Given the description of an element on the screen output the (x, y) to click on. 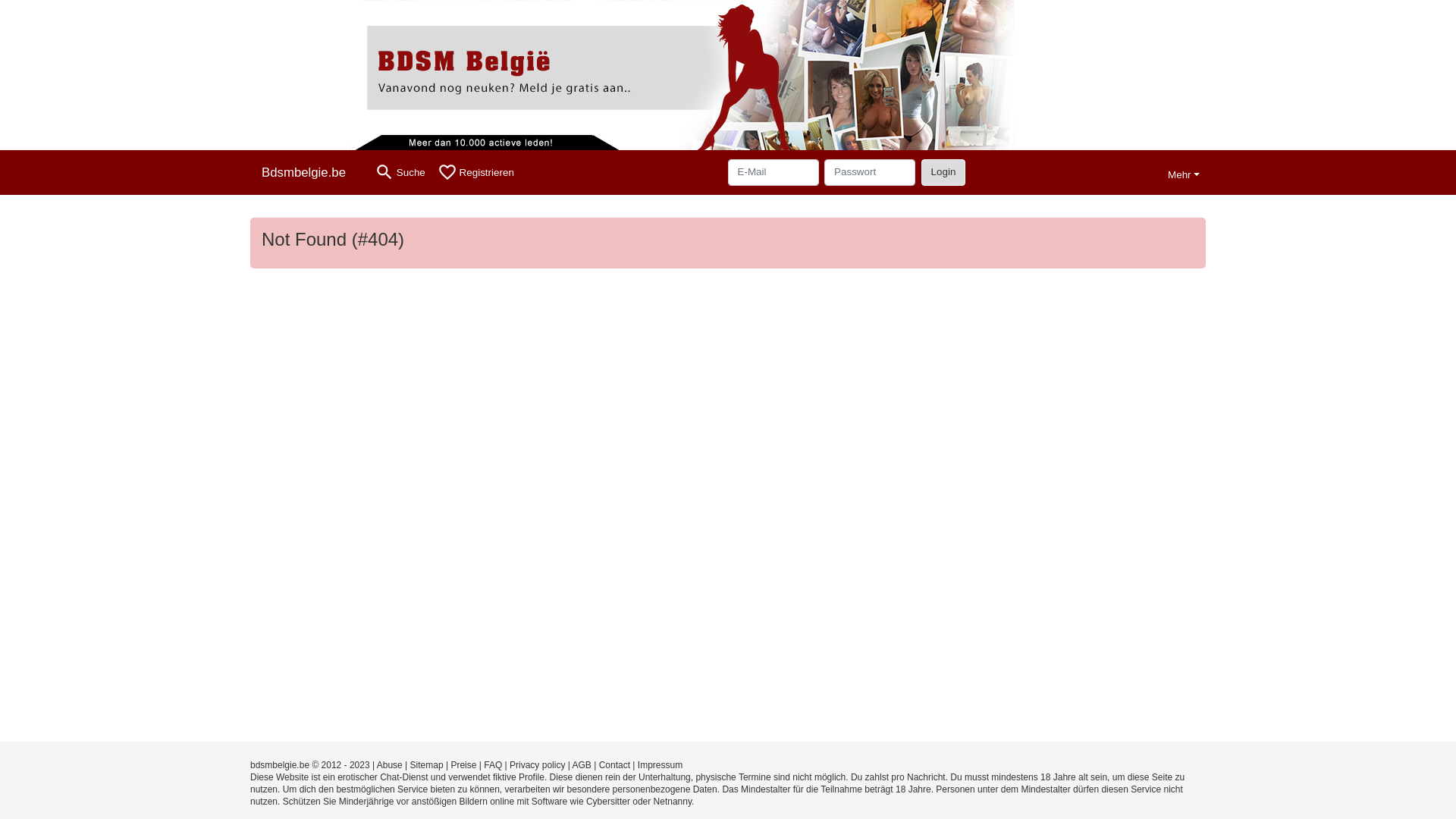
favorite_border
Registrieren Element type: text (475, 172)
FAQ Element type: text (492, 764)
Privacy policy Element type: text (536, 764)
Preise Element type: text (463, 764)
Impressum Element type: text (659, 764)
Contact Element type: text (614, 764)
search
Suche Element type: text (399, 172)
Bdsmbelgie.be Element type: text (309, 172)
AGB Element type: text (581, 764)
Login Element type: text (943, 172)
Mehr Element type: text (1183, 172)
Sitemap Element type: text (426, 764)
Abuse Element type: text (389, 764)
